Given the description of an element on the screen output the (x, y) to click on. 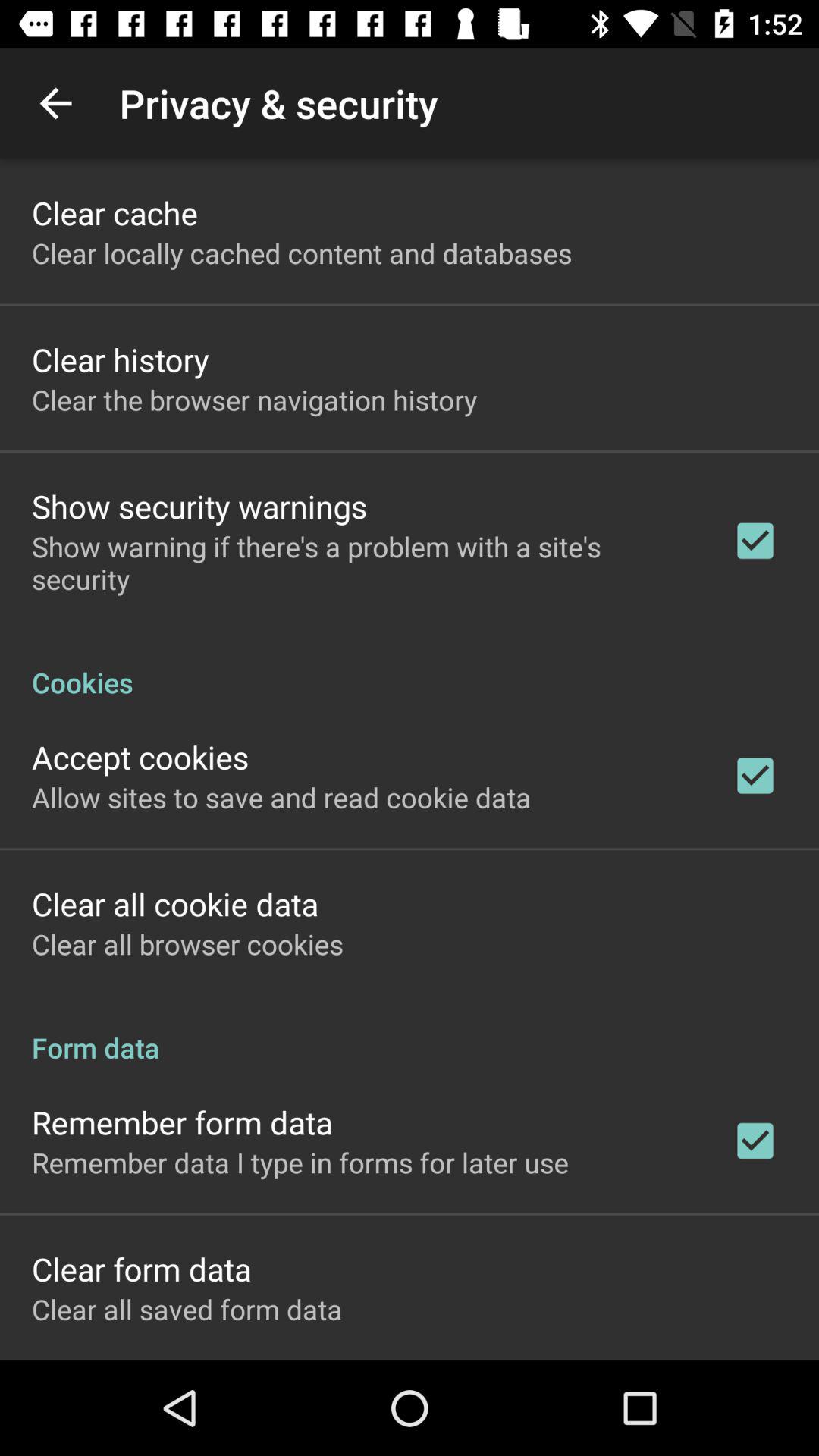
flip until show warning if icon (361, 562)
